Given the description of an element on the screen output the (x, y) to click on. 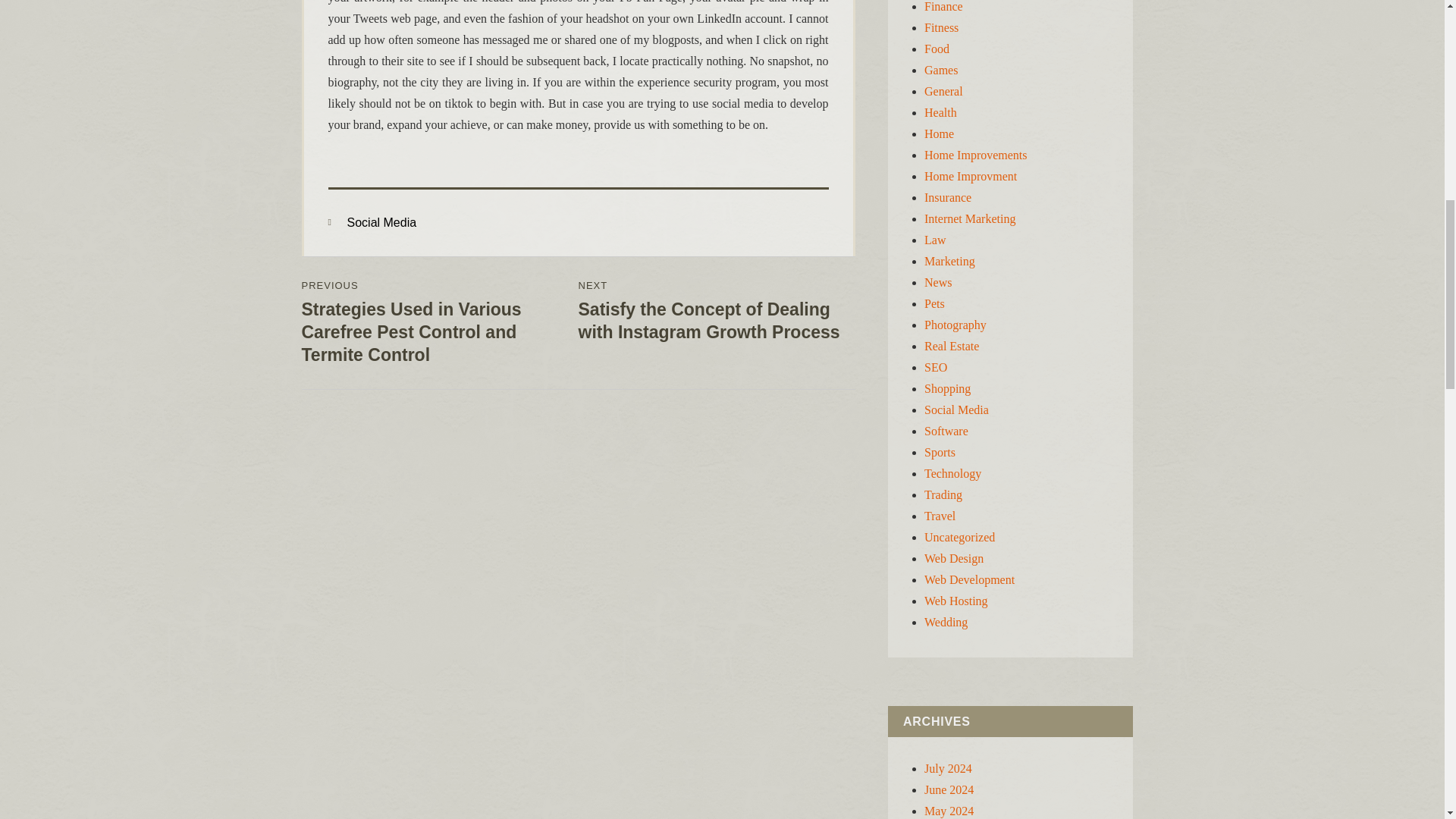
Food (936, 48)
Internet Marketing (969, 218)
Home Improvment (970, 175)
Home (938, 133)
Games (941, 69)
Fitness (941, 27)
General (943, 91)
Law (934, 239)
Health (940, 112)
Home Improvements (975, 154)
Finance (943, 6)
Insurance (947, 196)
Social Media (381, 222)
